Given the description of an element on the screen output the (x, y) to click on. 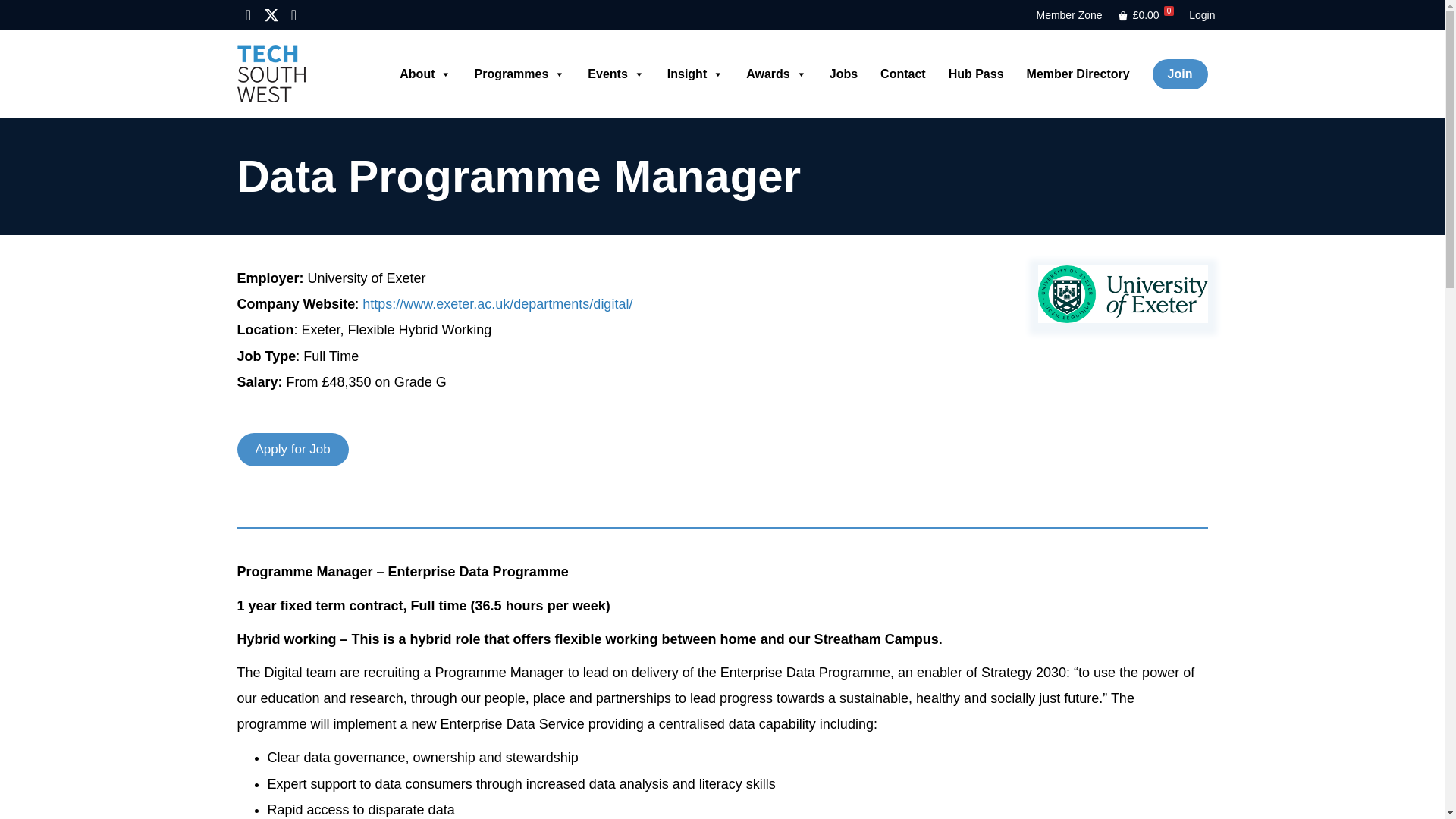
About (425, 73)
Data Programme Manager (517, 175)
Programmes (519, 73)
Awards (776, 73)
Solutions Architect (1121, 293)
YouTube (293, 15)
Member Zone (1068, 15)
logo-dark-s (269, 73)
Insight (695, 73)
Events (615, 73)
LinkedIn (247, 15)
Login (1201, 15)
